Given the description of an element on the screen output the (x, y) to click on. 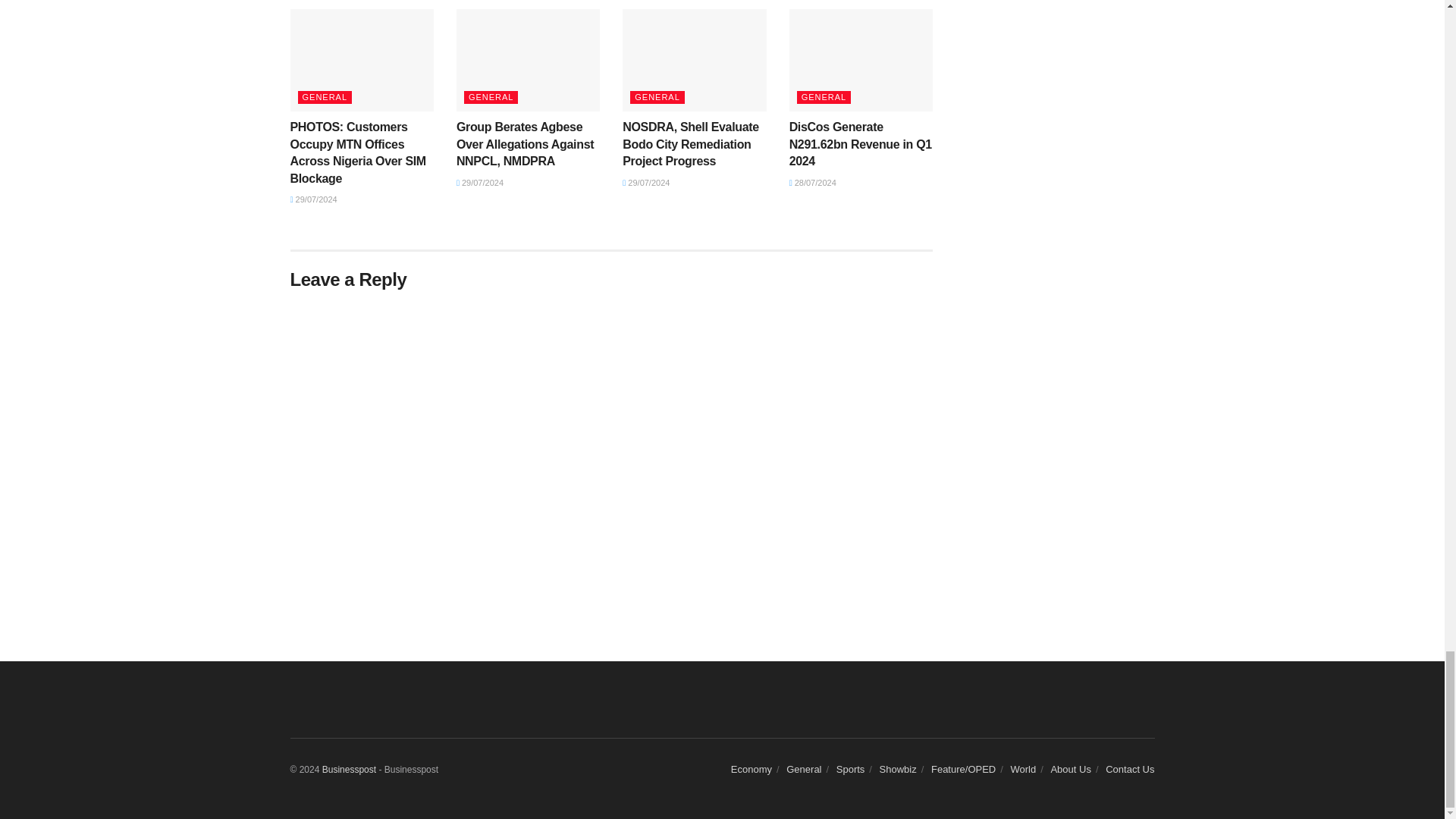
Businesspost (348, 769)
